Given the description of an element on the screen output the (x, y) to click on. 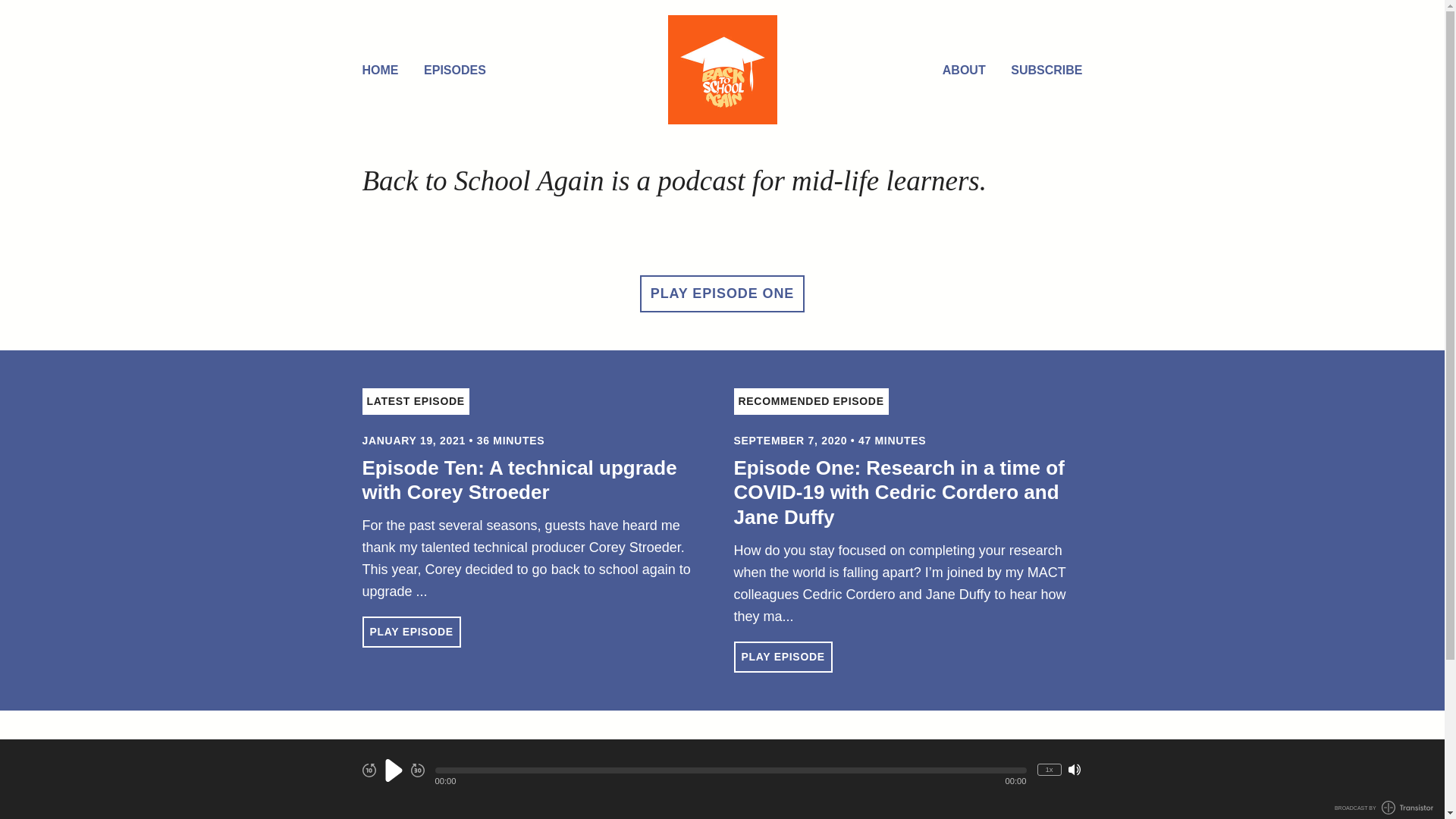
Home Element type: hover (722, 69)
BROADCAST BY TRANSISTOR LOGO Element type: text (1383, 807)
Fast Forward 30 seconds Element type: hover (417, 769)
HOME Element type: text (380, 70)
ABOUT Element type: text (963, 70)
Seek within Episode Element type: hover (730, 770)
1x Element type: text (1049, 769)
Mute/Unmute Element type: hover (1074, 769)
Email Element type: text (665, 776)
Facebook Element type: text (740, 778)
PLAY EPISODE Element type: text (411, 631)
Play Element type: hover (392, 770)
Rewind 10 seconds Element type: hover (369, 769)
LinkedIn Element type: text (778, 778)
SUBSCRIBE Element type: text (1046, 70)
PLAY EPISODE Element type: text (783, 656)
EPISODES Element type: text (454, 70)
PLAY EPISODE ONE Element type: text (722, 293)
Twitter Element type: text (703, 778)
Episode Ten: A technical upgrade with Corey Stroeder Element type: text (519, 480)
